Given the description of an element on the screen output the (x, y) to click on. 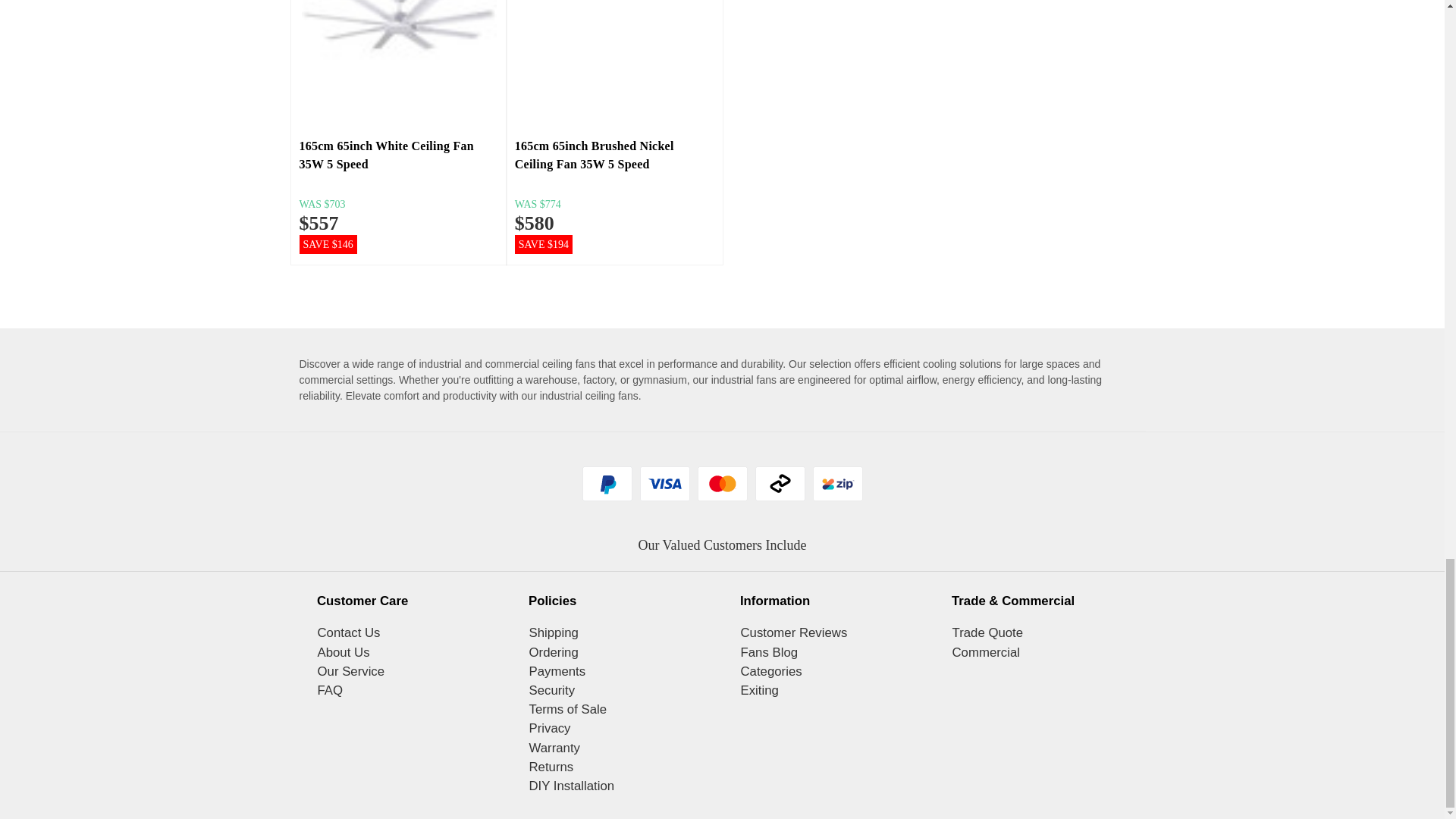
165cm 65inch Brushed Nickel Ceiling Fan 35W 5 Speed (613, 63)
165cm 65inch White Ceiling Fan 35W 5 Speed (398, 58)
